Given the description of an element on the screen output the (x, y) to click on. 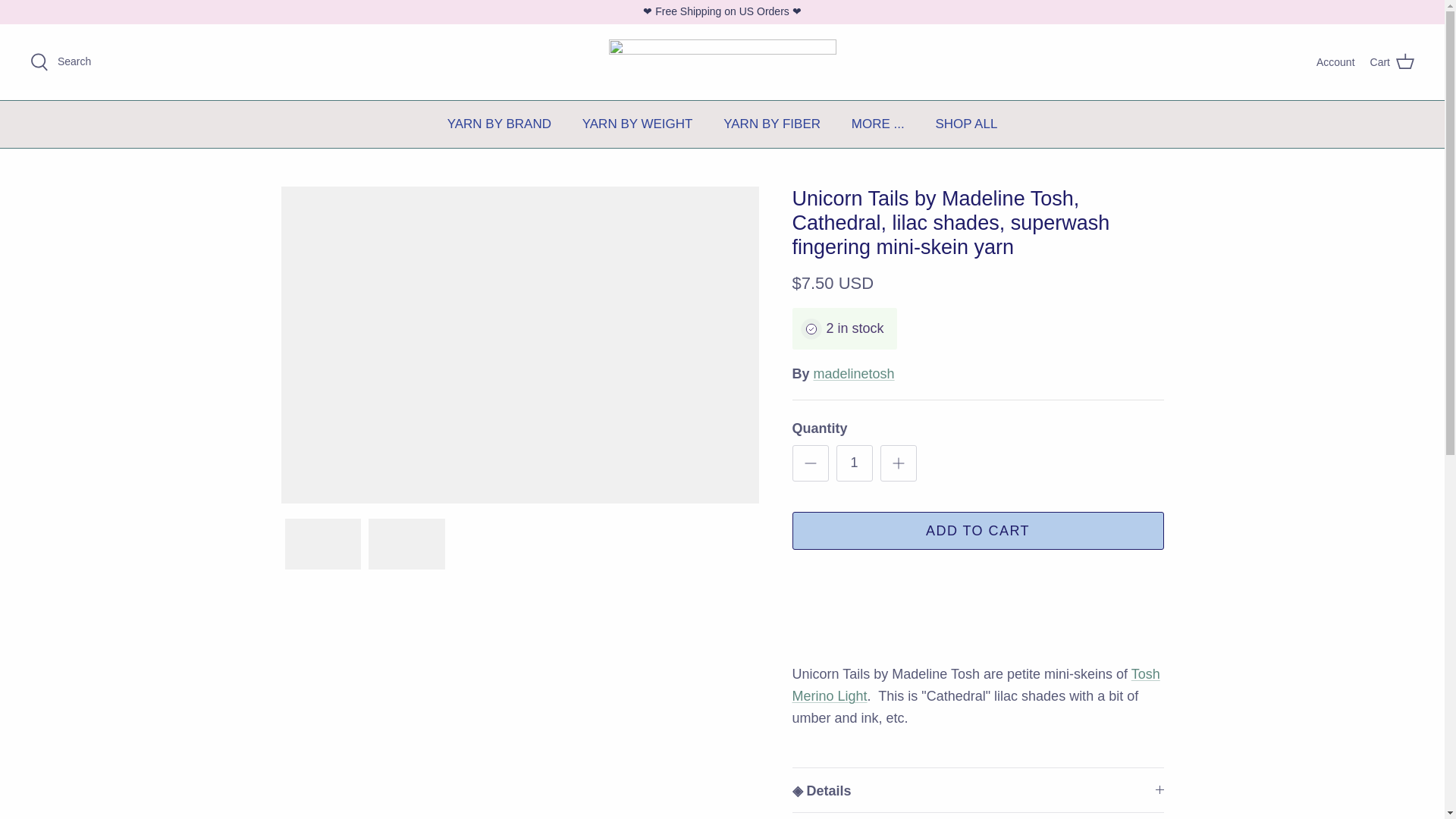
Search (60, 62)
Cart (1391, 62)
YARN BY BRAND (498, 124)
Account (1335, 62)
1 (853, 463)
Minus (809, 463)
Plus (897, 463)
Red Beauty Textiles (721, 62)
